Given the description of an element on the screen output the (x, y) to click on. 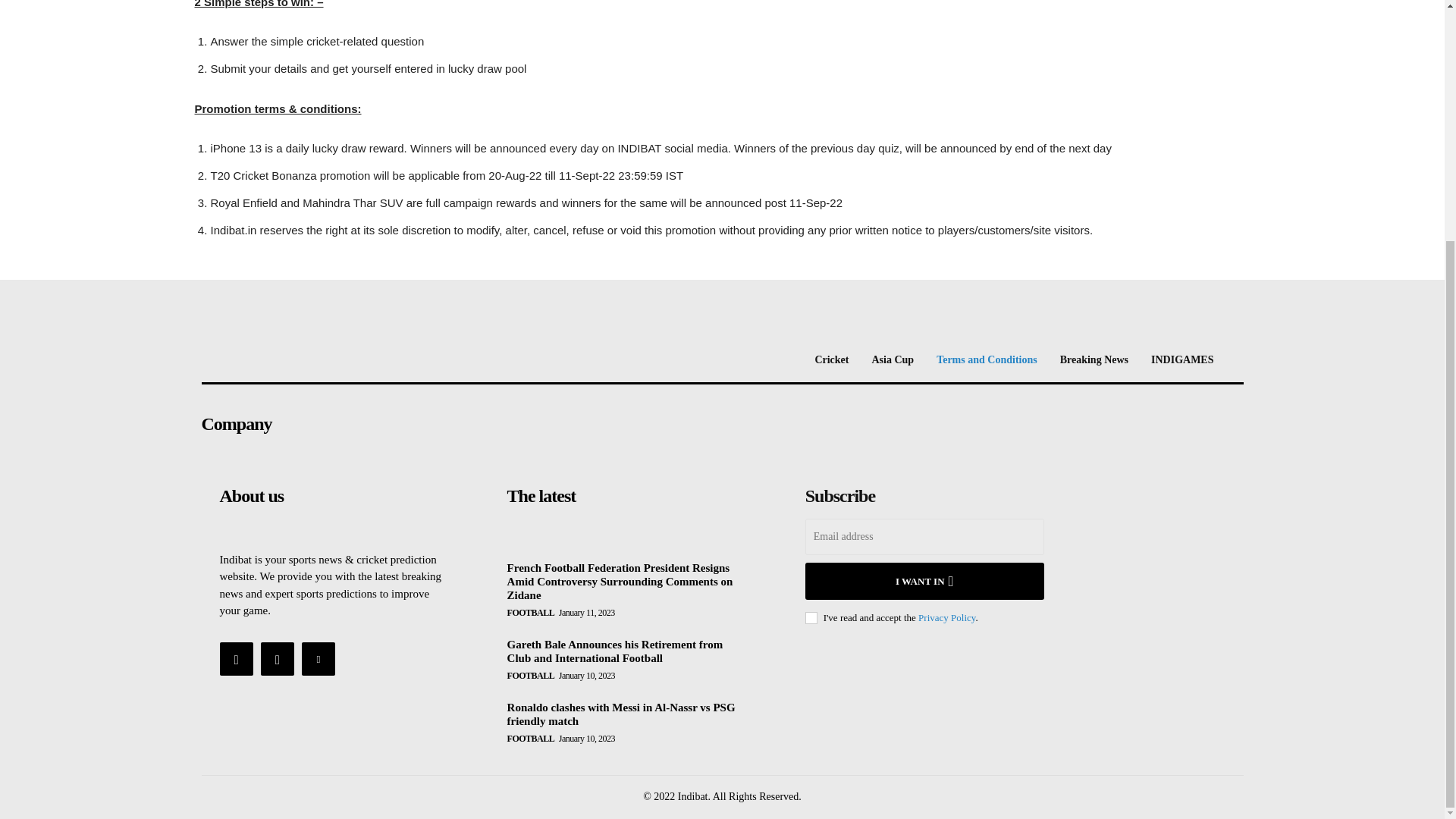
Cricket (830, 359)
Facebook (236, 658)
Instagram (277, 658)
Asia Cup (893, 359)
Twitter (317, 658)
Ronaldo clashes with Messi in Al-Nassr vs PSG friendly match (620, 714)
